Given the description of an element on the screen output the (x, y) to click on. 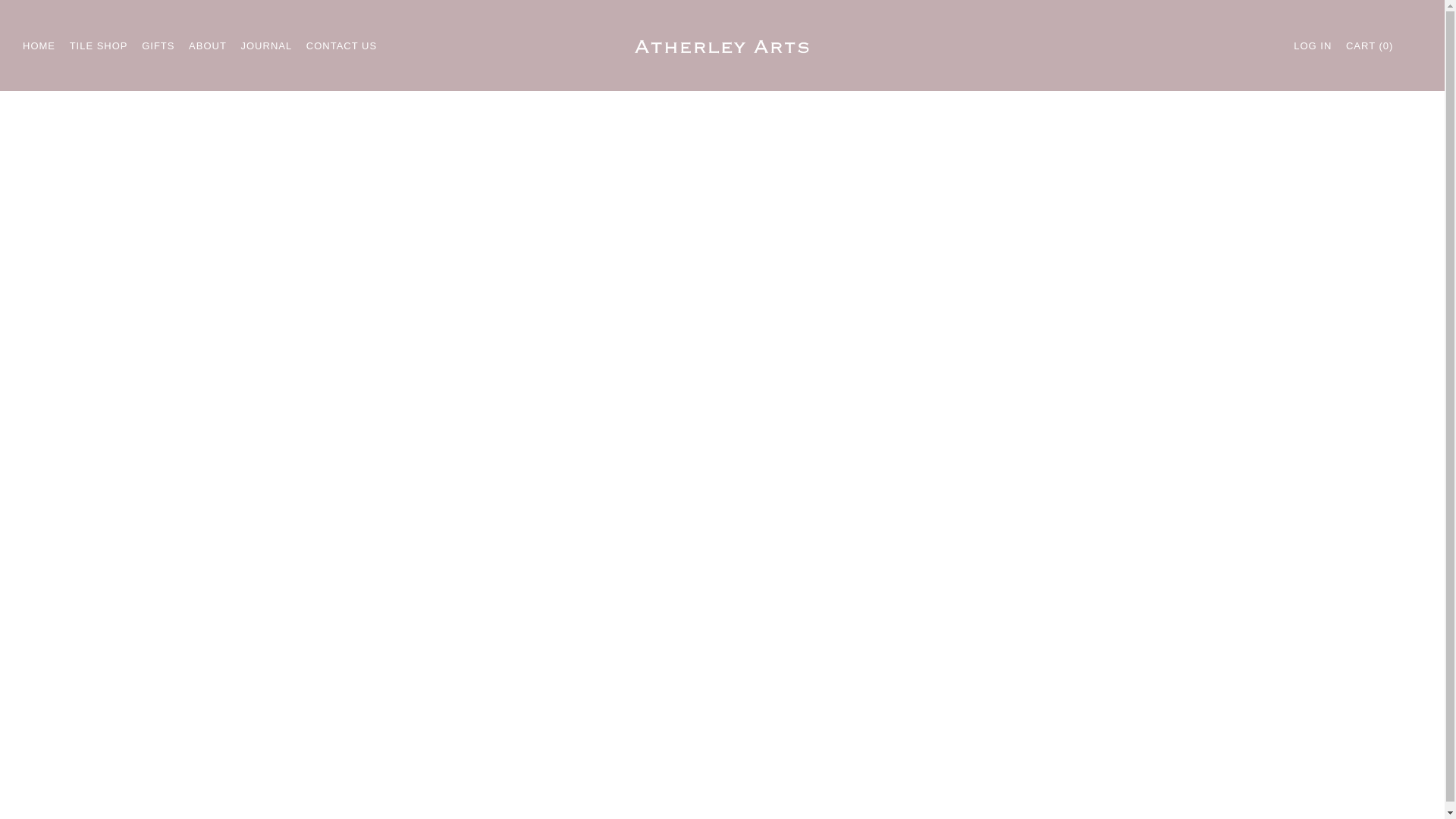
ABOUT Element type: text (207, 46)
CART (0) Element type: text (1369, 46)
GIFTS Element type: text (157, 46)
CONTACT US Element type: text (341, 46)
JOURNAL Element type: text (266, 46)
TILE SHOP Element type: text (98, 46)
HOME Element type: text (38, 46)
LOG IN Element type: text (1312, 46)
